Given the description of an element on the screen output the (x, y) to click on. 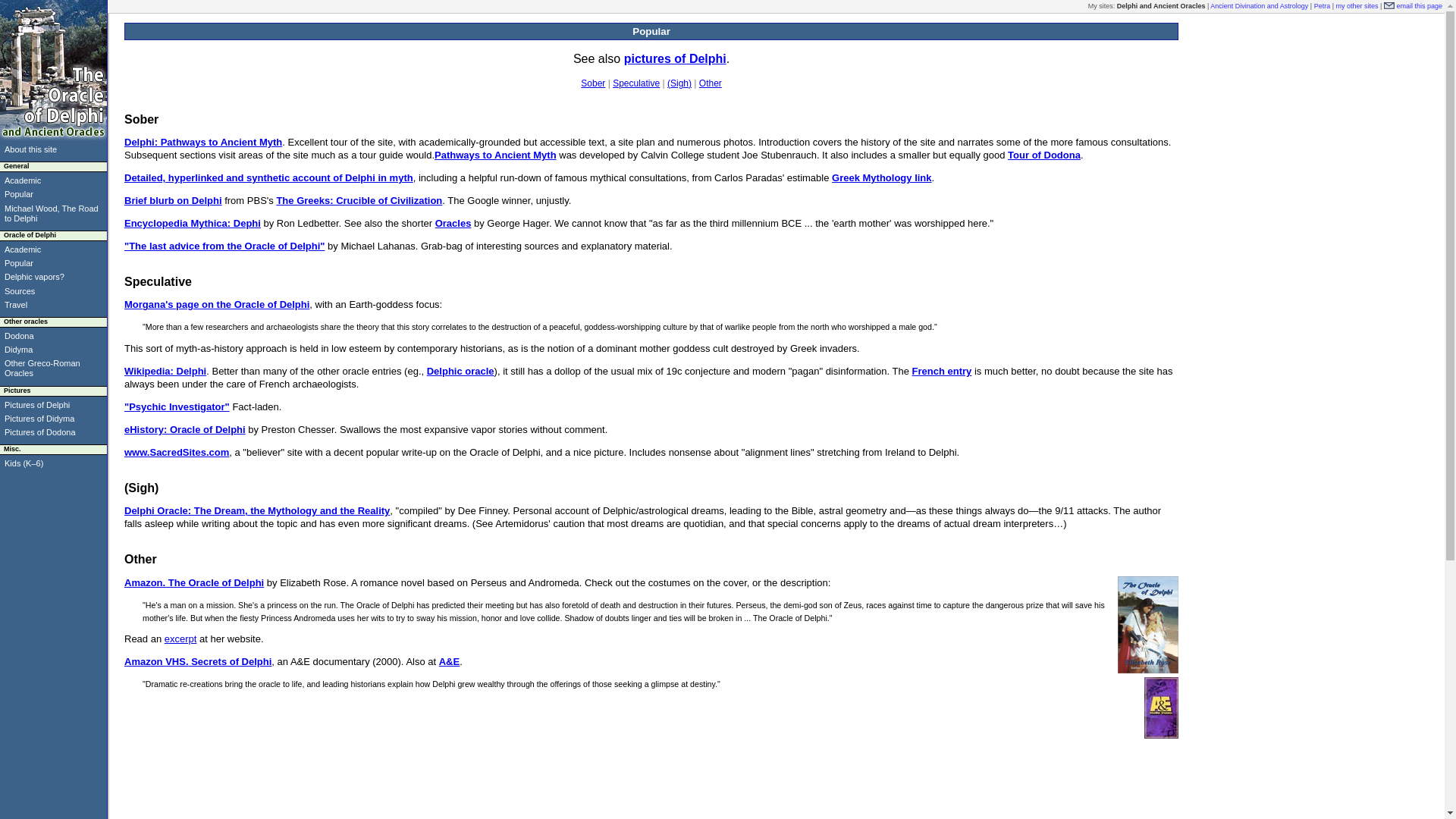
Didyma (18, 348)
Michael Wood, The Road to Delphi (51, 212)
Academic (22, 180)
"The last advice from the Oracle of Delphi" (223, 245)
Ancient Divination and Astrology (1258, 5)
Greek Mythology link (881, 177)
Popular (18, 194)
Pathways to Ancient Myth (494, 154)
About this site (30, 148)
Sober (592, 82)
Delphic vapors? (34, 276)
Delphi and Ancient Oracles (1160, 5)
Other Greco-Roman Oracles (42, 367)
Speculative (635, 82)
Brief blurb on Delphi (172, 200)
